Given the description of an element on the screen output the (x, y) to click on. 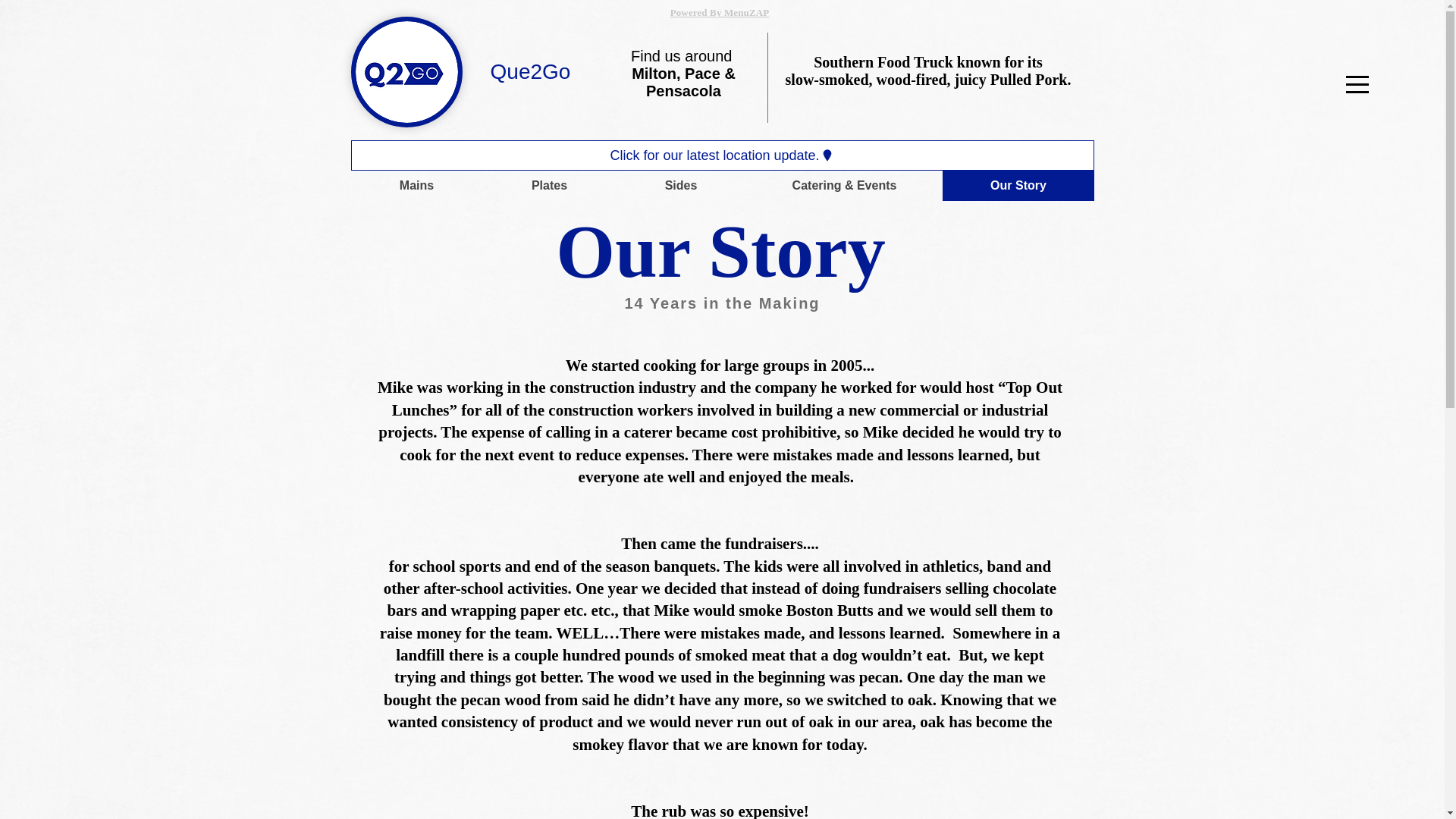
Click for our latest location update. (721, 155)
Que2Go (530, 71)
Powered By MenuZAP (719, 12)
Plates (547, 185)
Sides (680, 185)
Mains (415, 185)
Our Story (1017, 185)
